Given the description of an element on the screen output the (x, y) to click on. 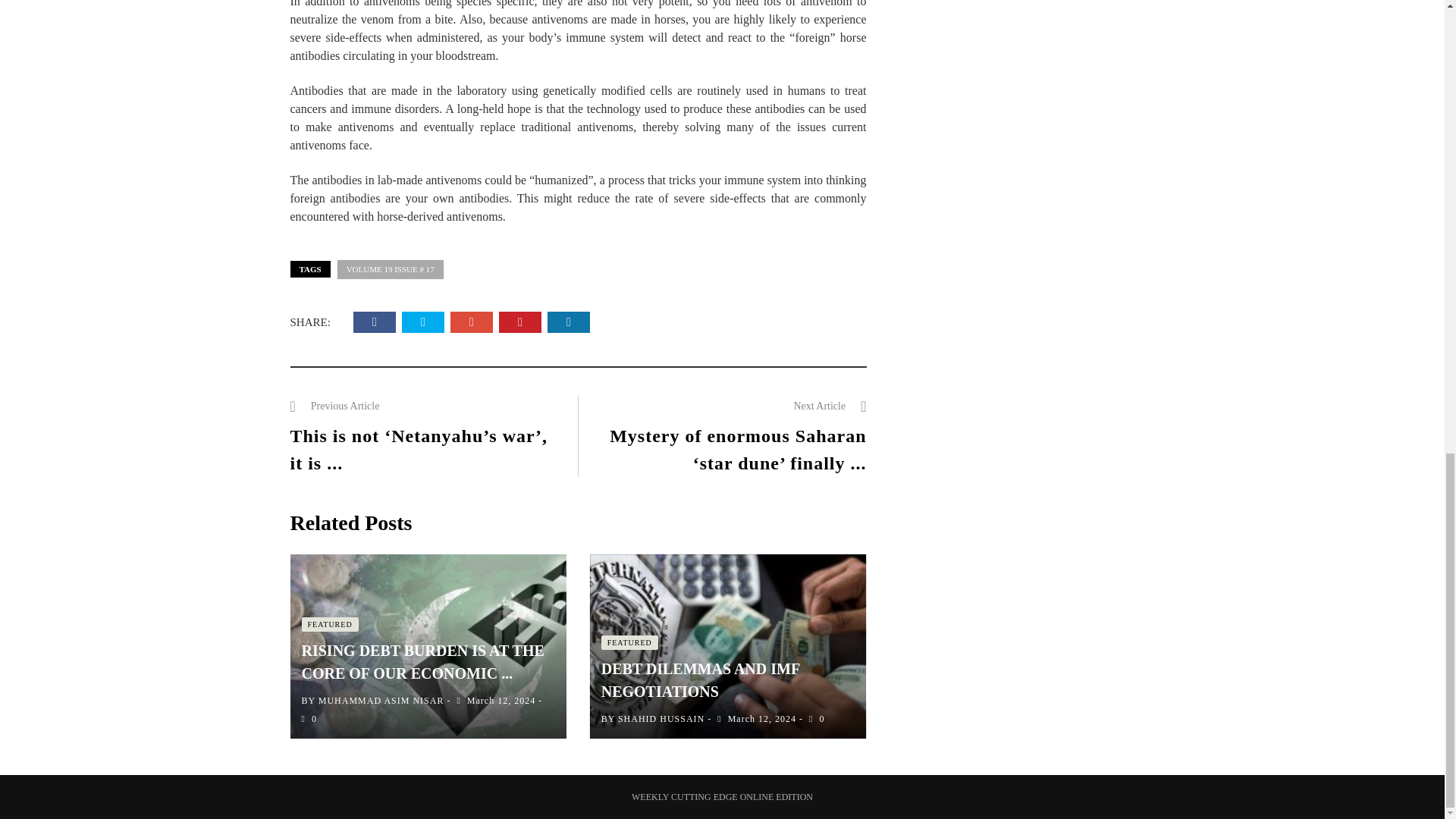
RISING DEBT BURDEN IS AT THE CORE OF OUR ECONOMIC ... (422, 661)
MUHAMMAD ASIM NISAR (381, 700)
FEATURED (629, 642)
FEATURED (329, 624)
Posts by Muhammad Asim Nisar (381, 700)
Posts by Shahid Hussain (660, 718)
DEBT DILEMMAS AND IMF NEGOTIATIONS (700, 680)
